Given the description of an element on the screen output the (x, y) to click on. 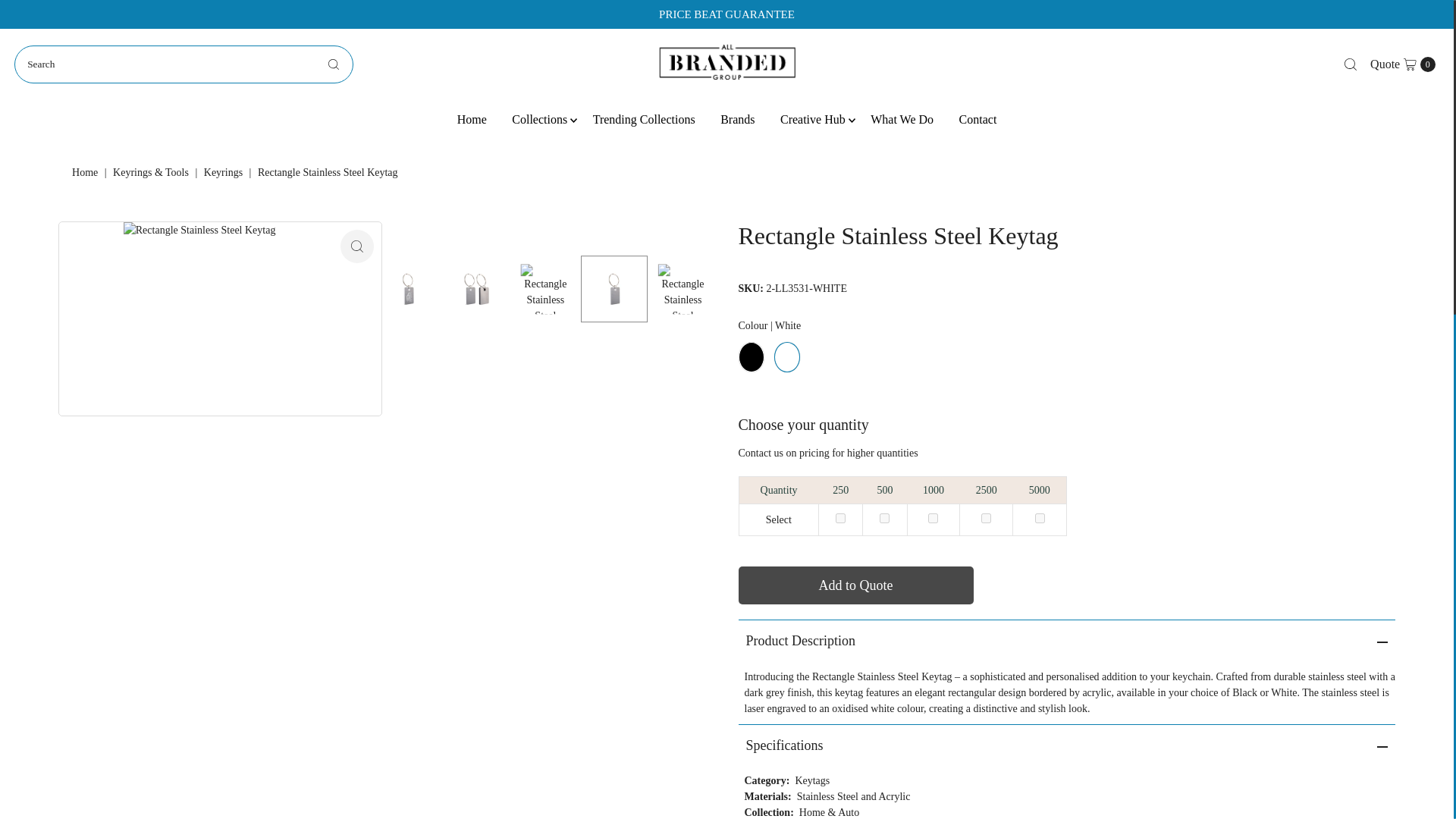
500 (884, 518)
Collections (539, 119)
1000 (932, 518)
Home (471, 119)
2500 (986, 518)
Home (86, 172)
Trending Collections (1403, 64)
5000 (643, 119)
Click to zoom (1040, 518)
250 (357, 246)
Add to Quote (840, 518)
